Given the description of an element on the screen output the (x, y) to click on. 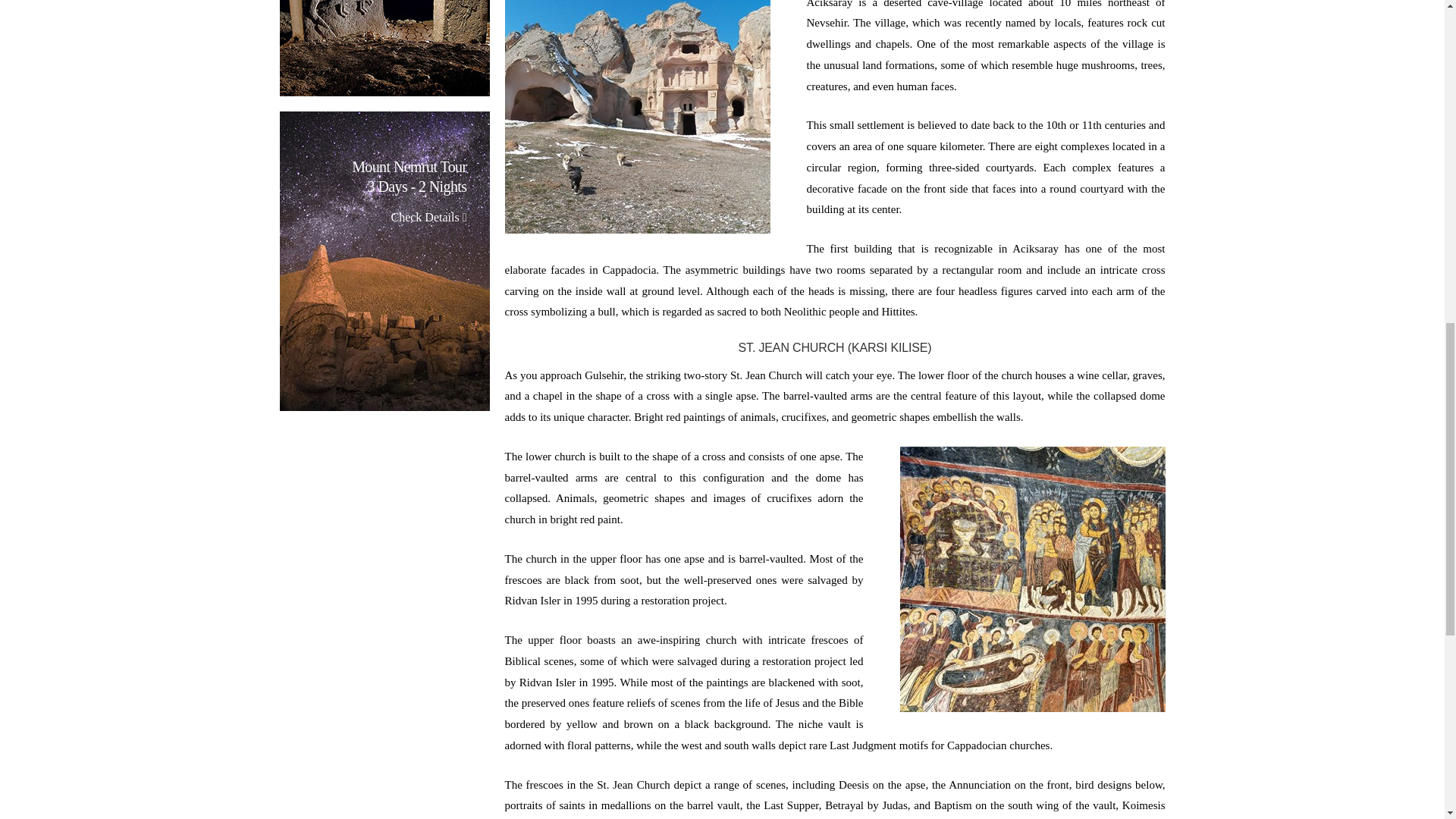
Gulsehir - St. Jean Church (637, 116)
Gulsehir - St. Jean Church (1031, 578)
Eastern Turkey Tour (384, 48)
